Given the description of an element on the screen output the (x, y) to click on. 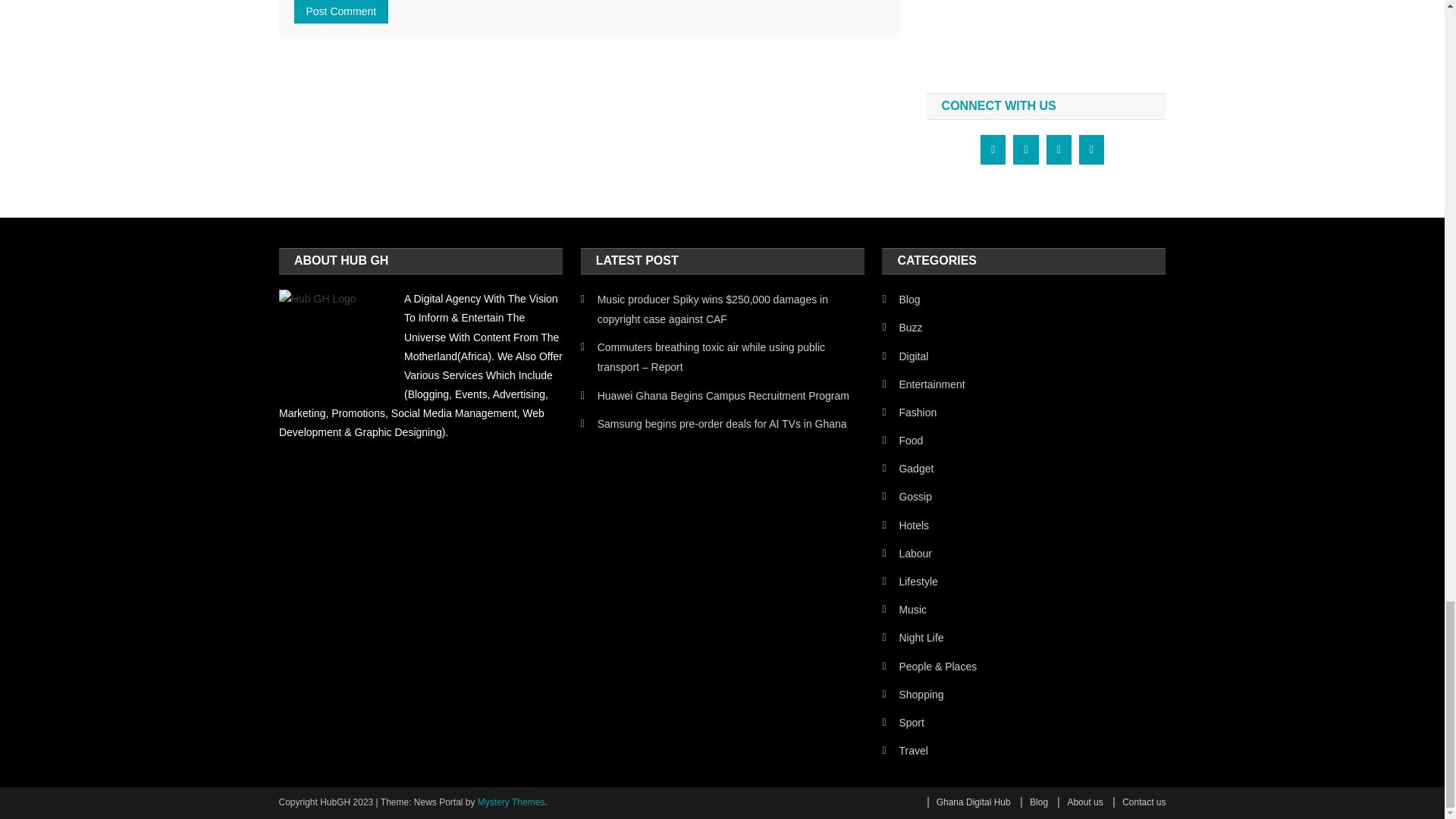
Post Comment (341, 11)
